Given the description of an element on the screen output the (x, y) to click on. 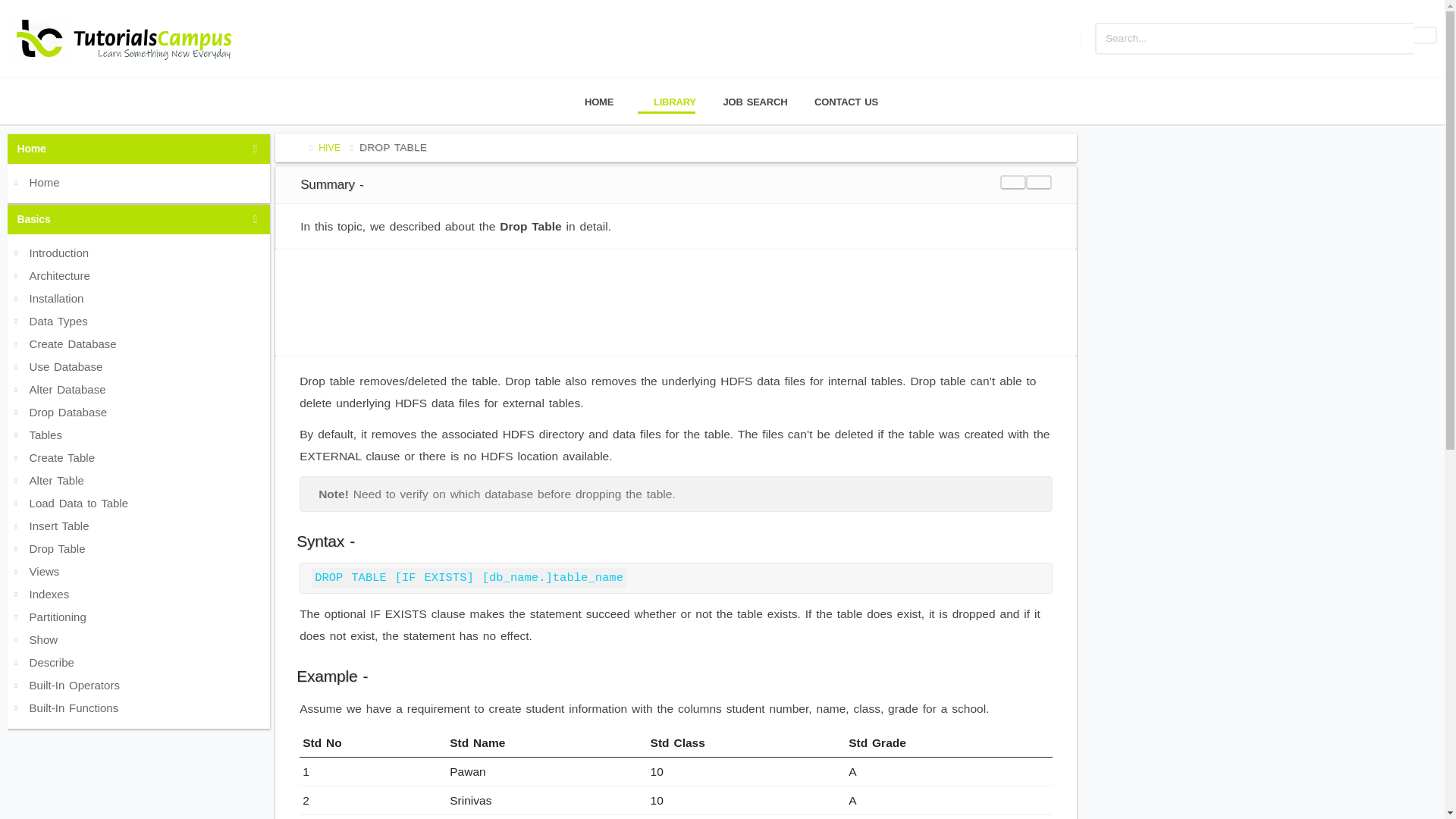
Installation (138, 296)
Create Database (138, 341)
Indexes (138, 591)
Alter Table (138, 477)
Show (138, 637)
Insert Table (138, 523)
  LIBRARY (666, 101)
Partitioning (138, 614)
Built-In Functions (138, 705)
Views (138, 568)
Alter Database (138, 386)
Drop Table (138, 546)
Drop Database (138, 409)
HIVE (329, 147)
  HOME (590, 101)
